Given the description of an element on the screen output the (x, y) to click on. 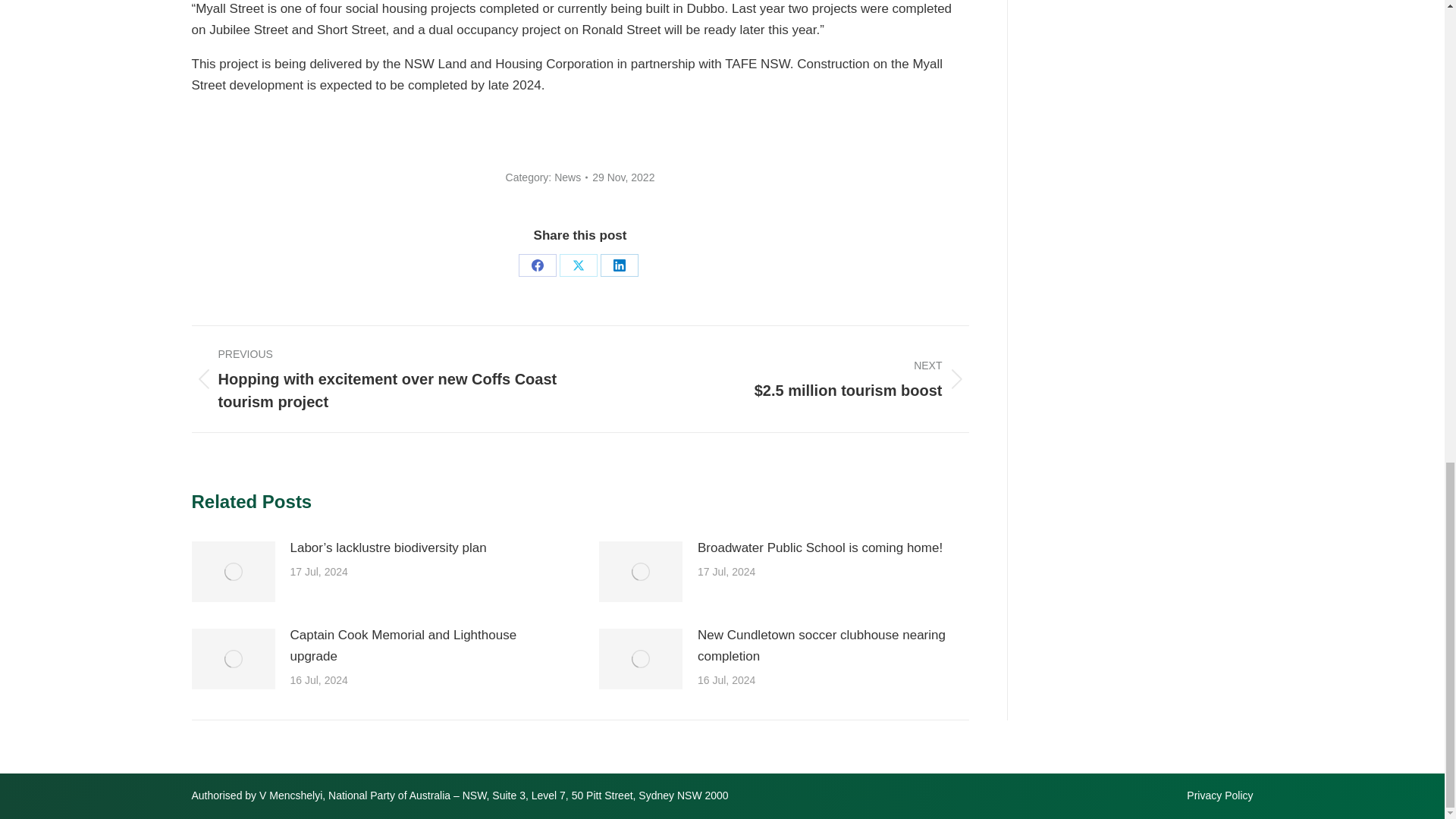
X (577, 264)
1:23 pm (622, 176)
LinkedIn (619, 264)
Facebook (537, 264)
